Given the description of an element on the screen output the (x, y) to click on. 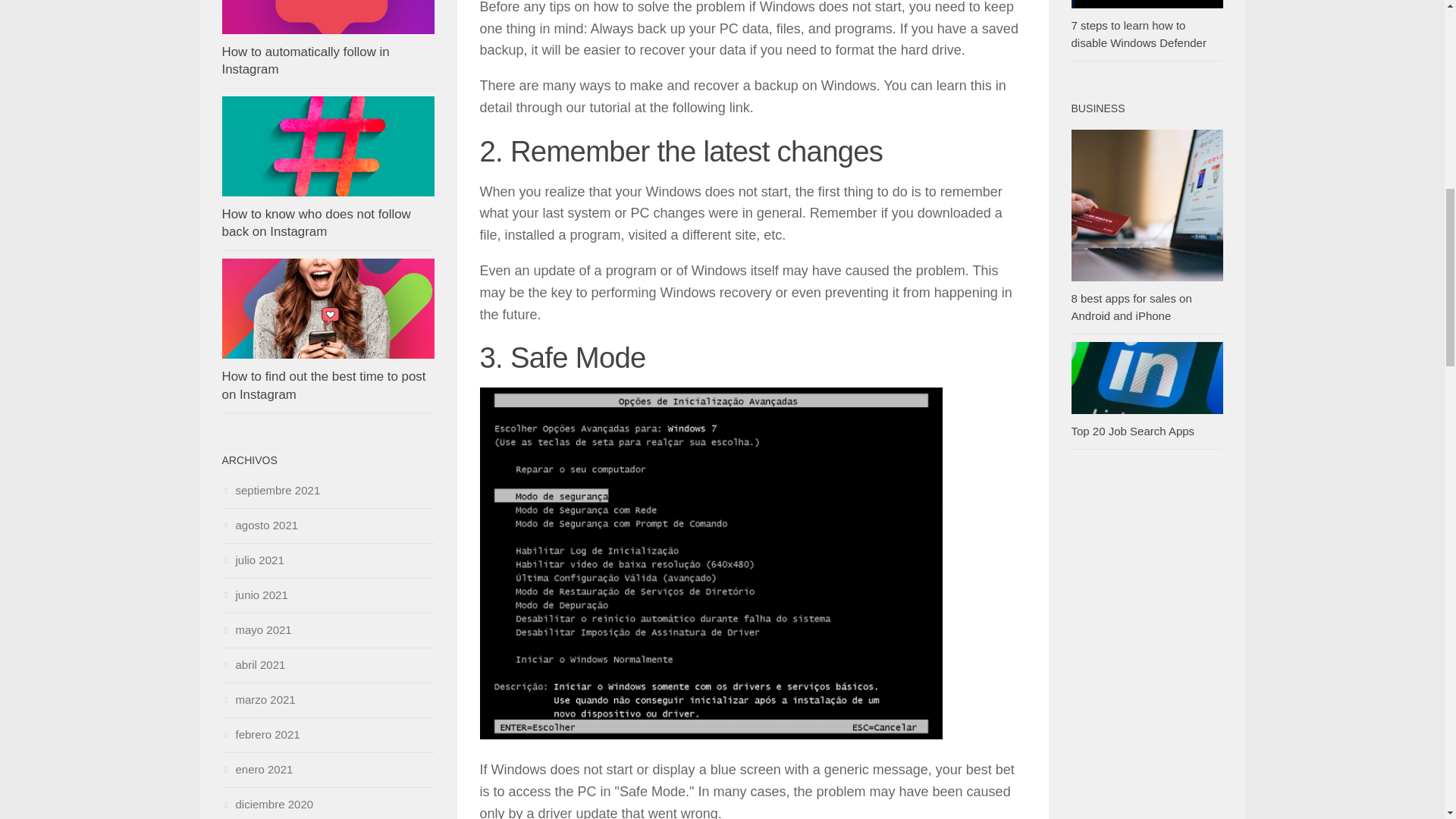
mayo 2021 (256, 629)
How to know who does not follow back on Instagram (315, 223)
How to find out the best time to post on Instagram (323, 385)
abril 2021 (253, 664)
How to automatically follow in Instagram (304, 60)
septiembre 2021 (270, 490)
marzo 2021 (258, 698)
julio 2021 (252, 559)
junio 2021 (253, 594)
agosto 2021 (259, 524)
